Given the description of an element on the screen output the (x, y) to click on. 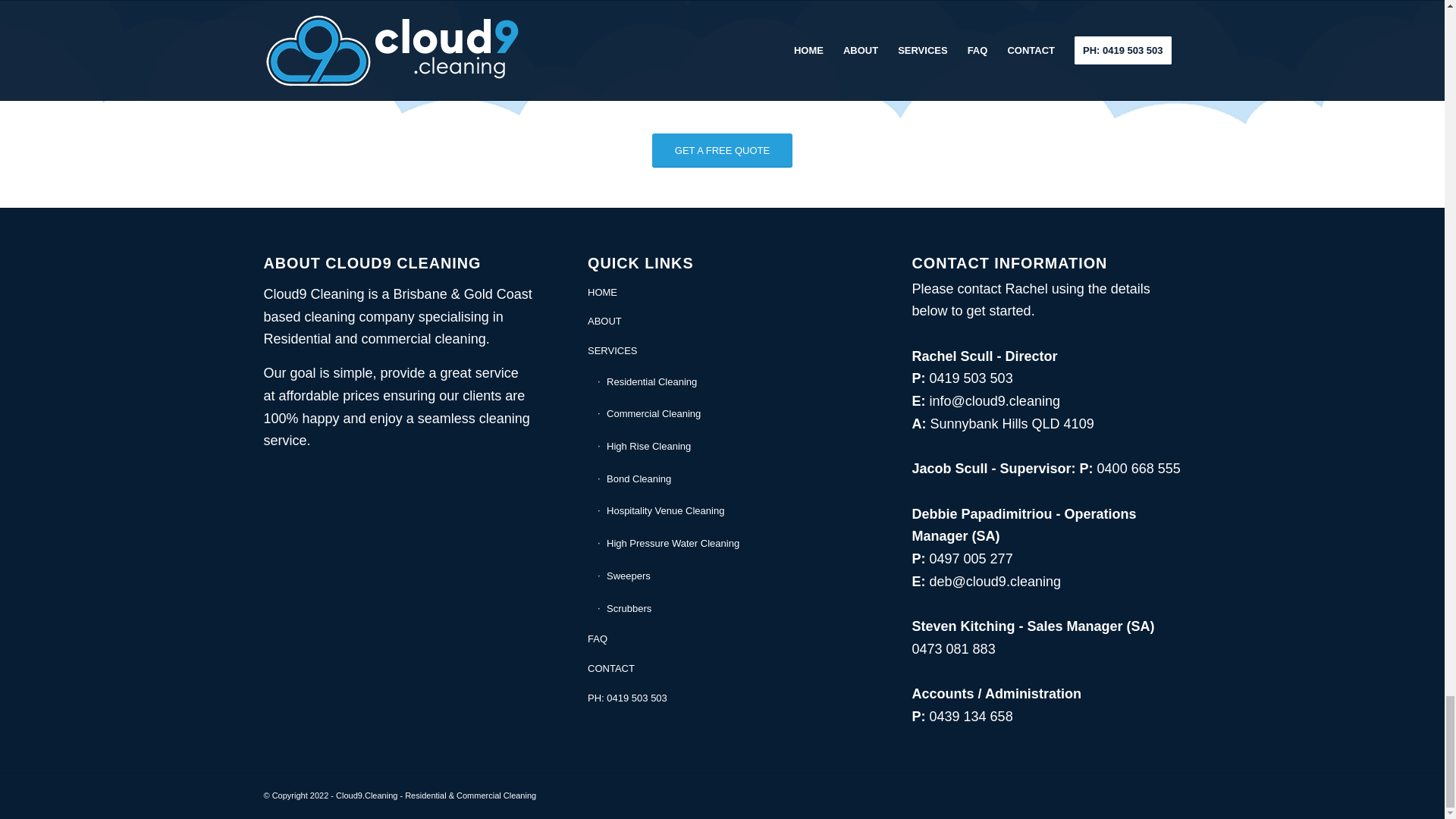
Bond Cleaning (726, 479)
Residential Cleaning (726, 382)
FAQ (722, 639)
HOME (722, 292)
High Rise Cleaning (726, 446)
SERVICES (722, 351)
Commercial Cleaning (726, 414)
Sweepers (726, 576)
GET A FREE QUOTE (722, 150)
CONTACT (722, 668)
ABOUT (722, 321)
PH: 0419 503 503 (722, 698)
Scrubbers (726, 608)
Hospitality Venue Cleaning (726, 511)
High Pressure Water Cleaning (726, 543)
